Given the description of an element on the screen output the (x, y) to click on. 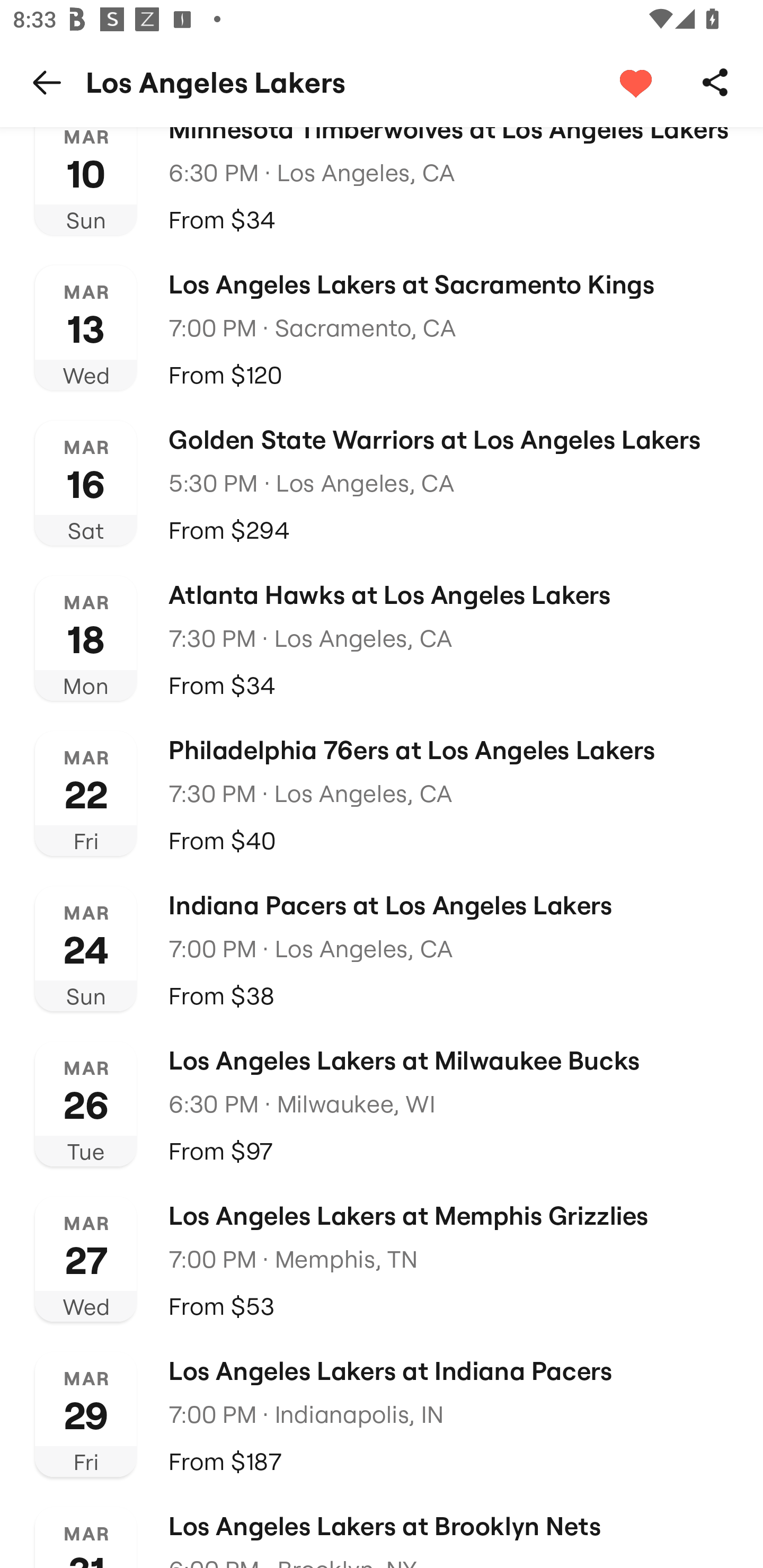
Back (47, 81)
Track this performer (635, 81)
Share this performer (715, 81)
